Given the description of an element on the screen output the (x, y) to click on. 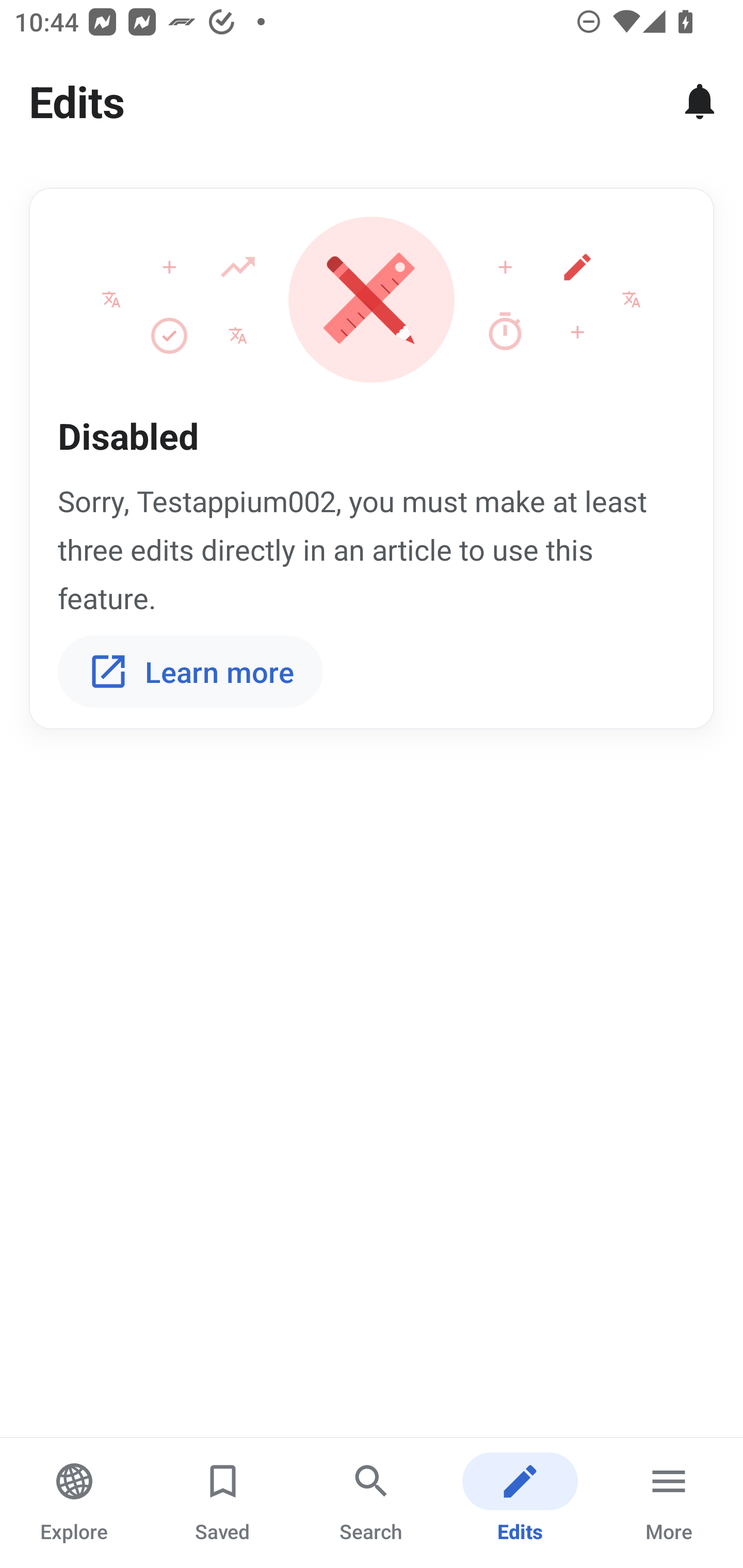
Notifications (699, 101)
Learn more (190, 671)
Explore (74, 1502)
Saved (222, 1502)
Search (371, 1502)
More (668, 1502)
